Given the description of an element on the screen output the (x, y) to click on. 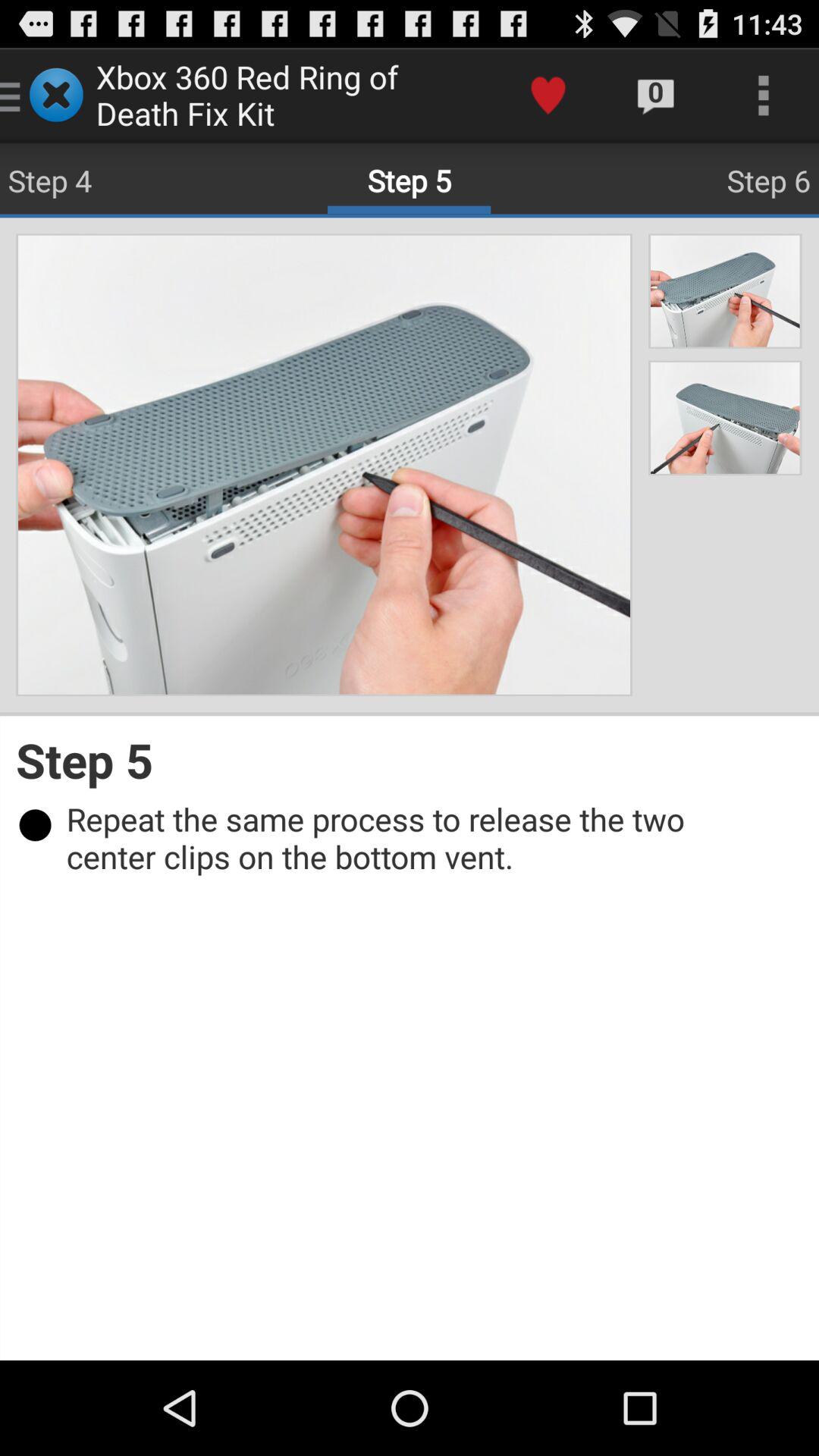
choose the item below step 5 (417, 837)
